Given the description of an element on the screen output the (x, y) to click on. 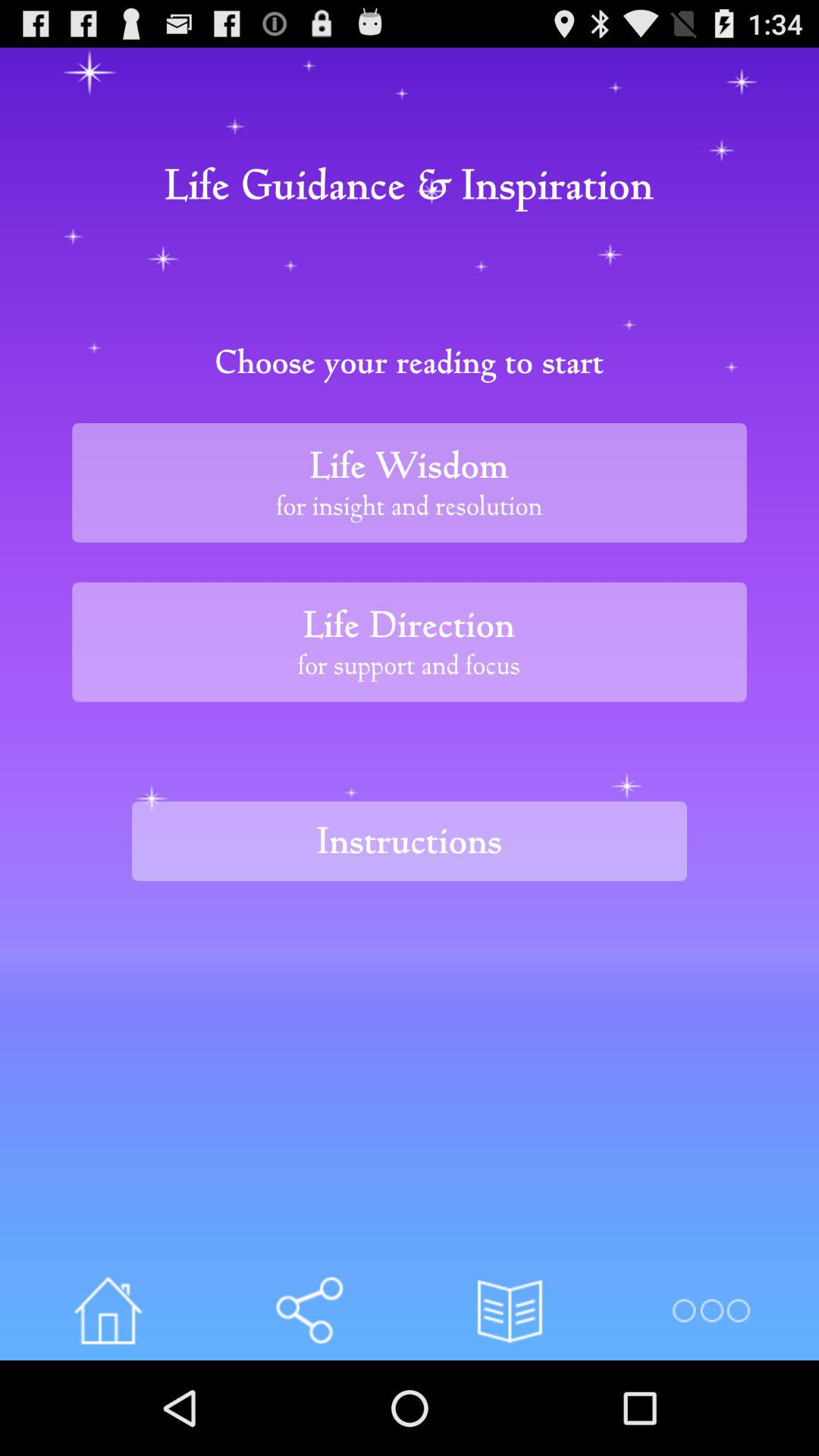
jump until instructions (409, 840)
